Given the description of an element on the screen output the (x, y) to click on. 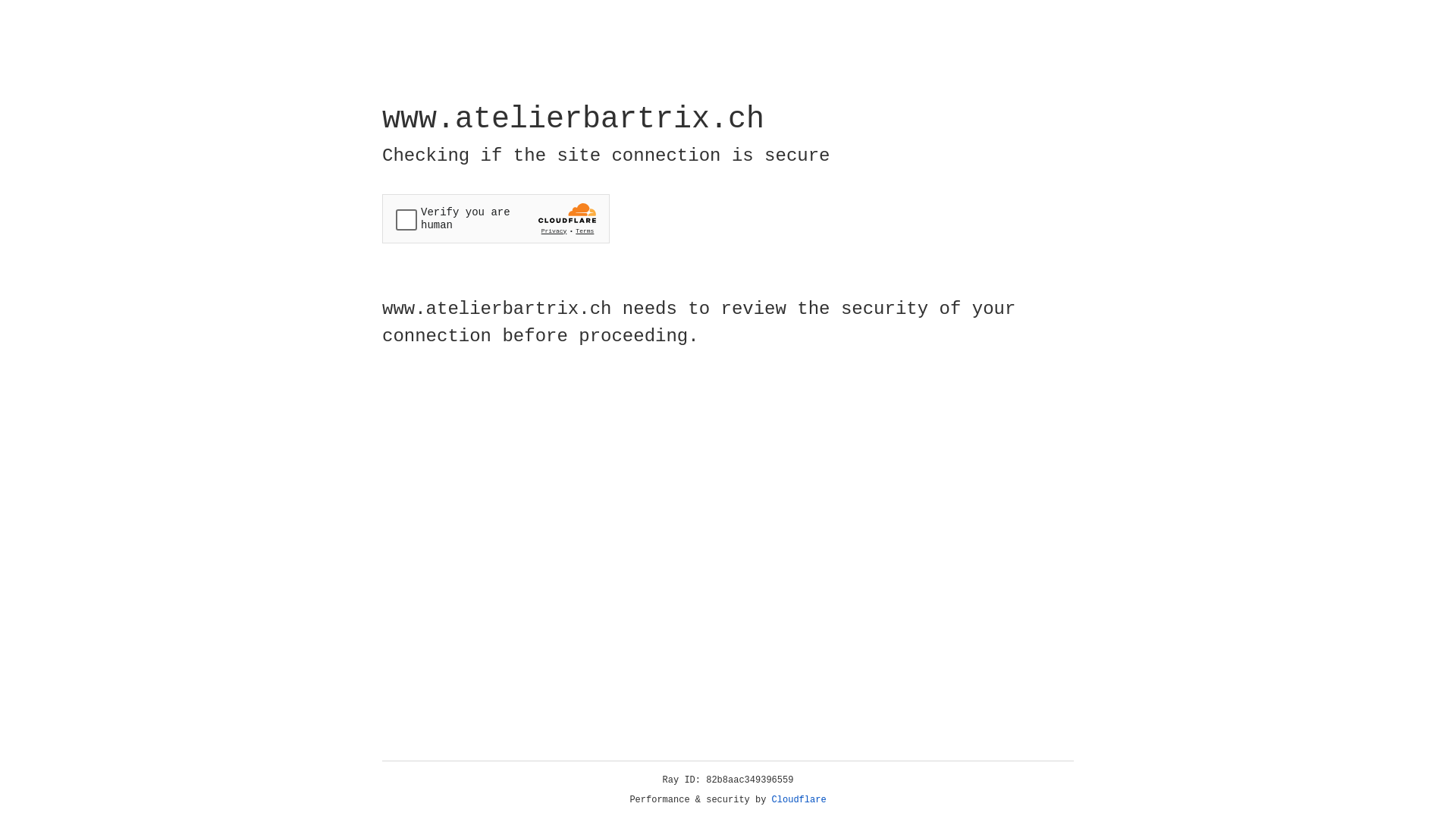
Cloudflare Element type: text (798, 799)
Widget containing a Cloudflare security challenge Element type: hover (495, 218)
